Given the description of an element on the screen output the (x, y) to click on. 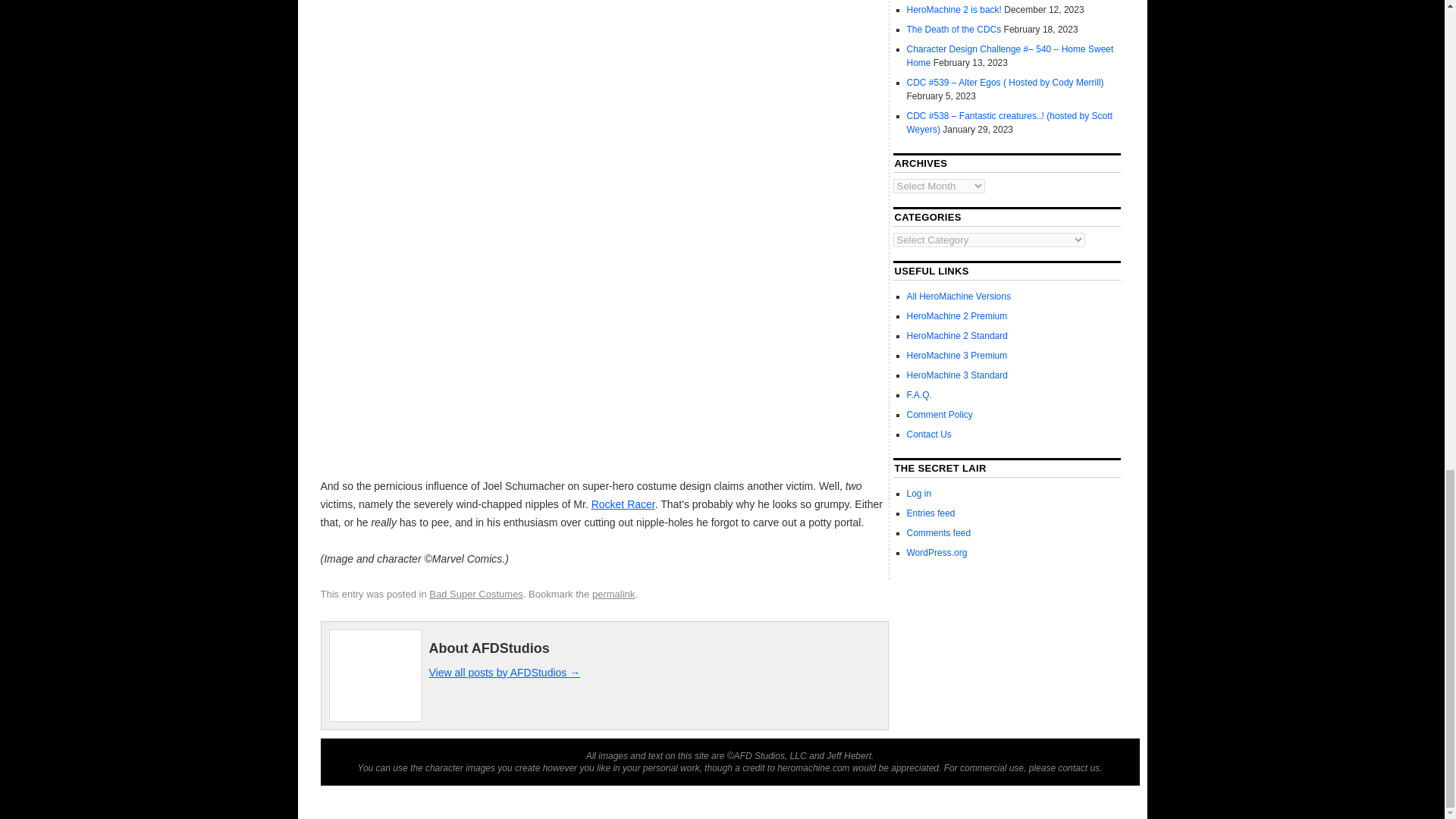
All HeroMachine Versions (958, 296)
HeroMachine 2 is back! (954, 9)
The Death of the CDCs (954, 29)
HeroMachine 2 Premium (957, 316)
permalink (613, 593)
HeroMachine 3 Premium (957, 355)
Permalink to Rocket Chafer (613, 593)
Rocket Racer (623, 503)
F.A.Q. (919, 394)
HeroMachine 3 Standard (957, 375)
